Given the description of an element on the screen output the (x, y) to click on. 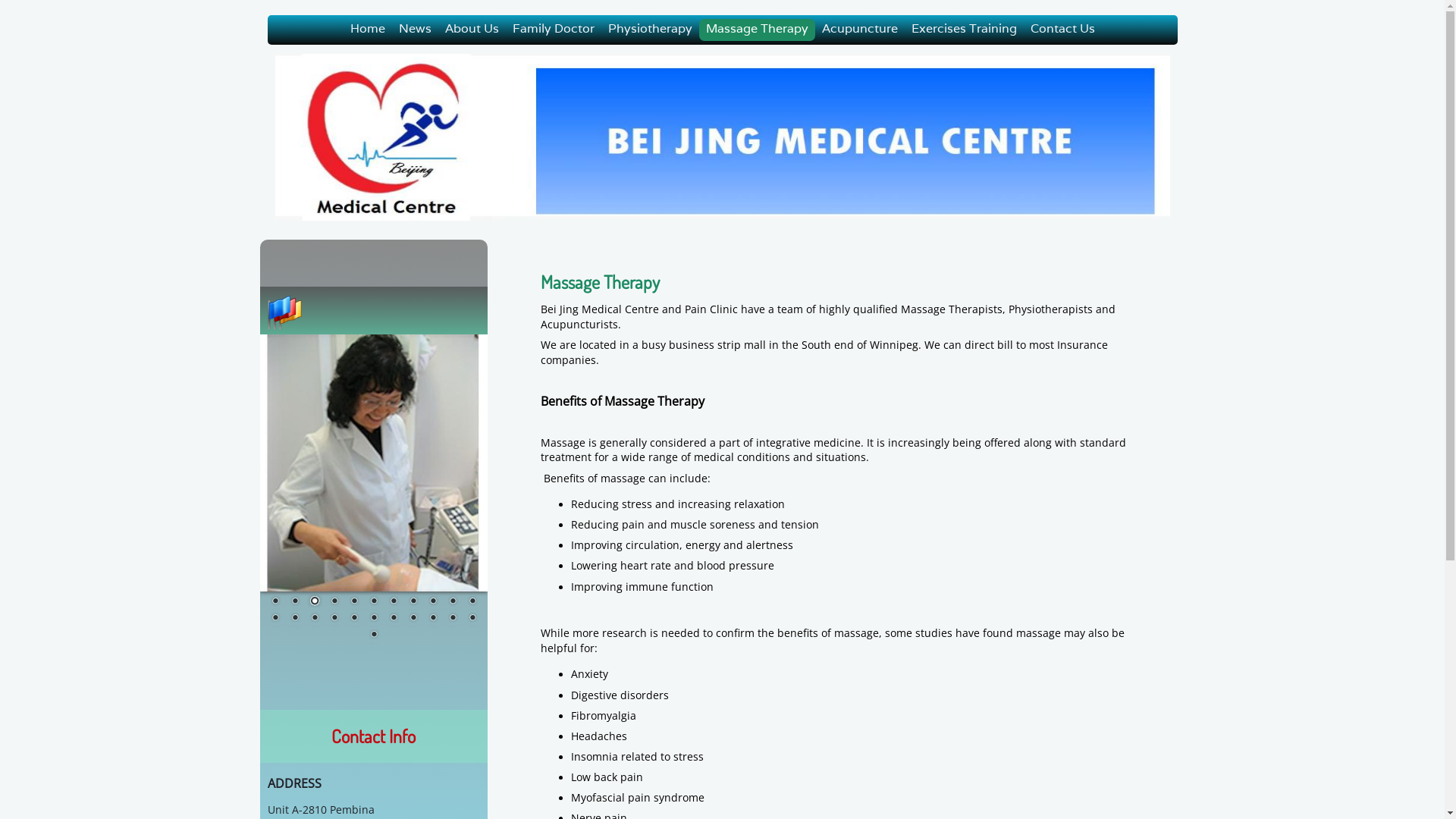
22 Element type: text (472, 618)
19 Element type: text (412, 618)
3 Element type: text (314, 601)
2 Element type: text (294, 601)
14 Element type: text (314, 618)
4 Element type: text (334, 601)
About Us Element type: text (471, 29)
13 Element type: text (294, 618)
8 Element type: text (412, 601)
Physiotherapy Element type: text (649, 29)
16 Element type: text (353, 618)
6 Element type: text (373, 601)
18 Element type: text (393, 618)
Contact Us Element type: text (1062, 29)
5 Element type: text (353, 601)
Home Element type: text (366, 29)
News Element type: text (414, 29)
20 Element type: text (432, 618)
Exercises Training Element type: text (962, 29)
12 Element type: text (274, 618)
11 Element type: text (472, 601)
23 Element type: text (373, 635)
7 Element type: text (393, 601)
15 Element type: text (334, 618)
Acupuncture Element type: text (858, 29)
10 Element type: text (452, 601)
17 Element type: text (373, 618)
Family Doctor Element type: text (552, 29)
Massage Therapy Element type: text (757, 29)
1 Element type: text (274, 601)
9 Element type: text (432, 601)
21 Element type: text (452, 618)
